Given the description of an element on the screen output the (x, y) to click on. 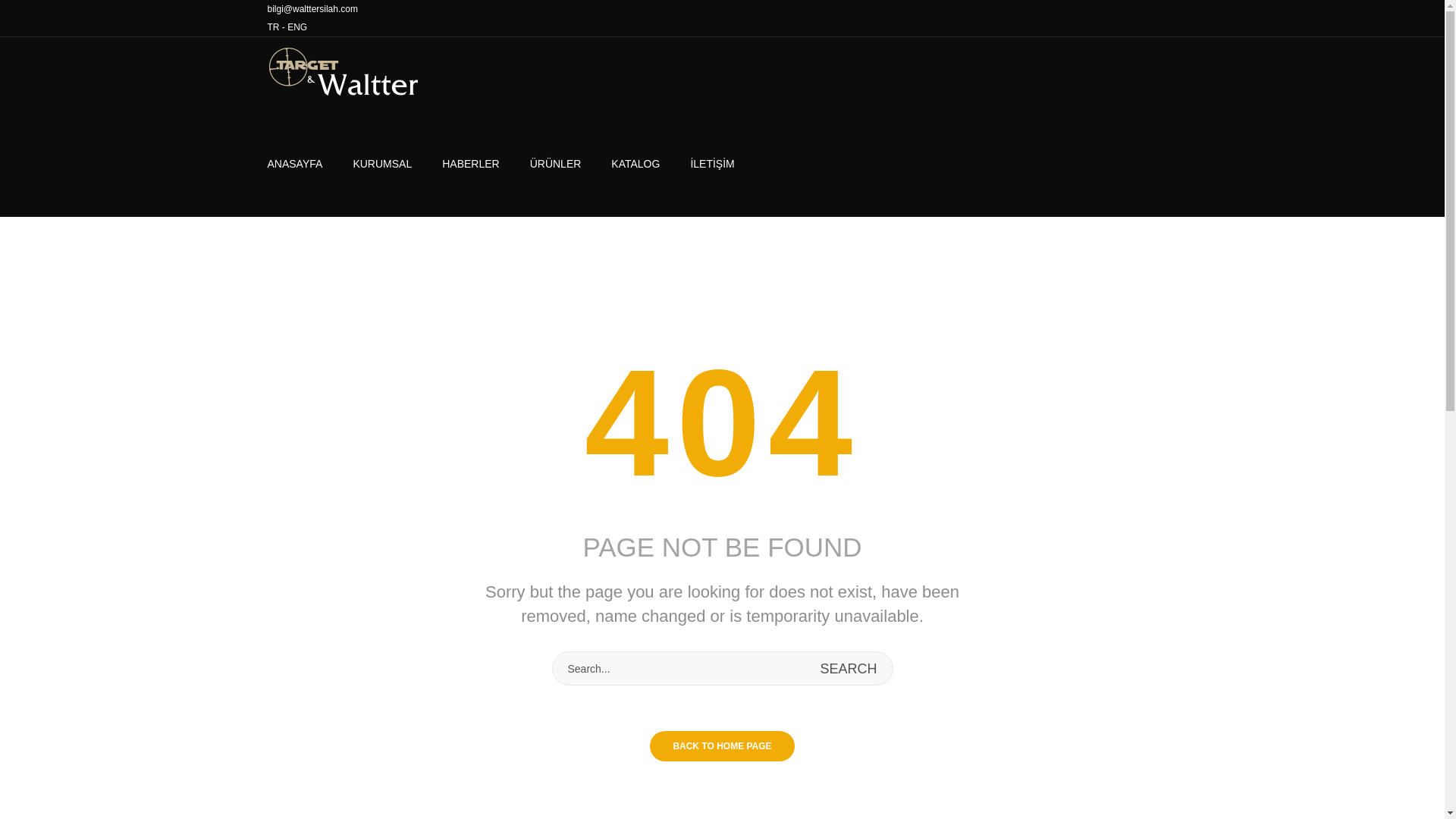
HABERLER (469, 163)
KURUMSAL (381, 163)
ENG (296, 27)
TR (272, 27)
KATALOG (635, 163)
SEARCH (848, 667)
Search... (721, 667)
ANASAYFA (301, 163)
